Given the description of an element on the screen output the (x, y) to click on. 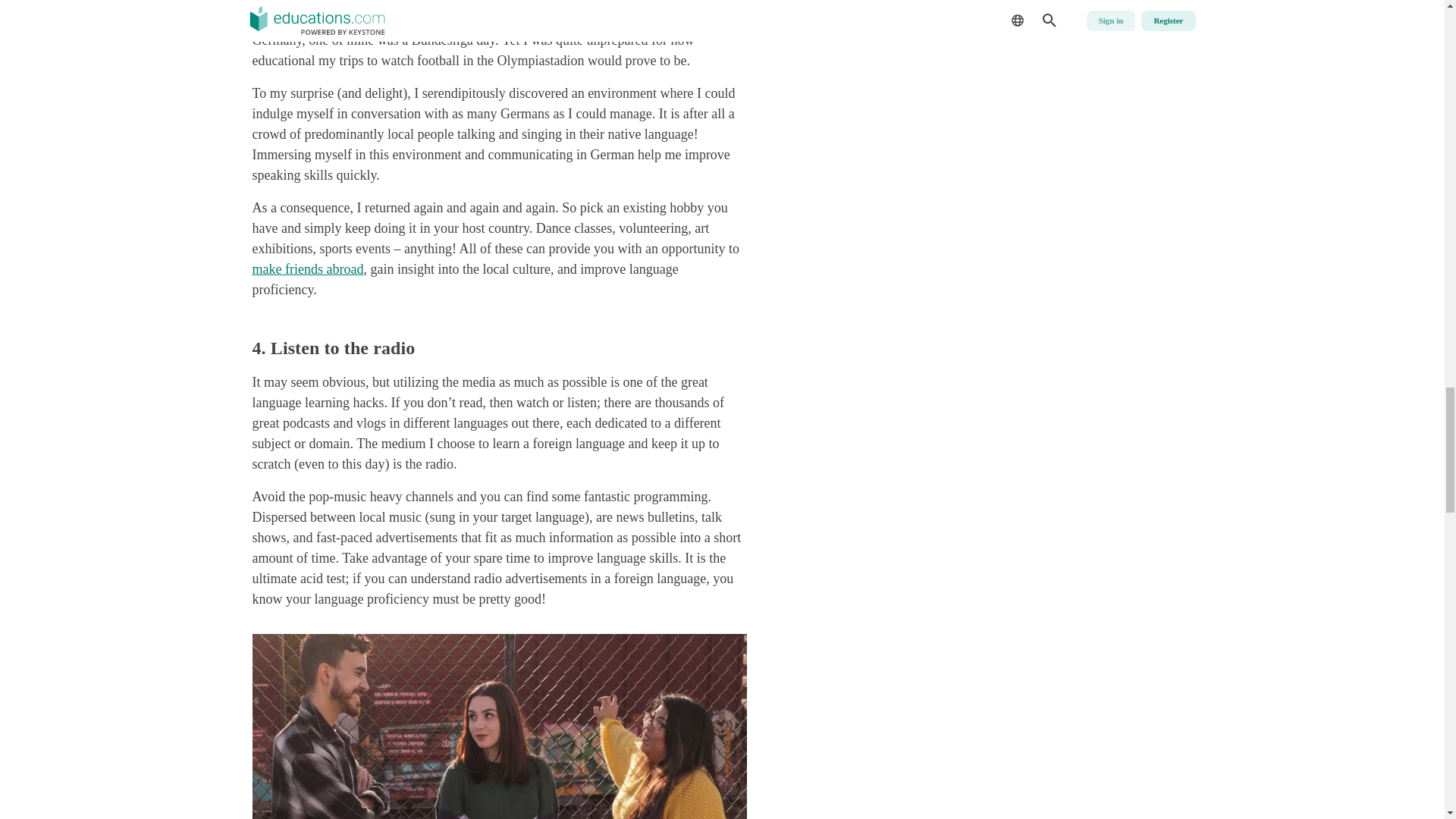
make friends abroad (306, 268)
